Given the description of an element on the screen output the (x, y) to click on. 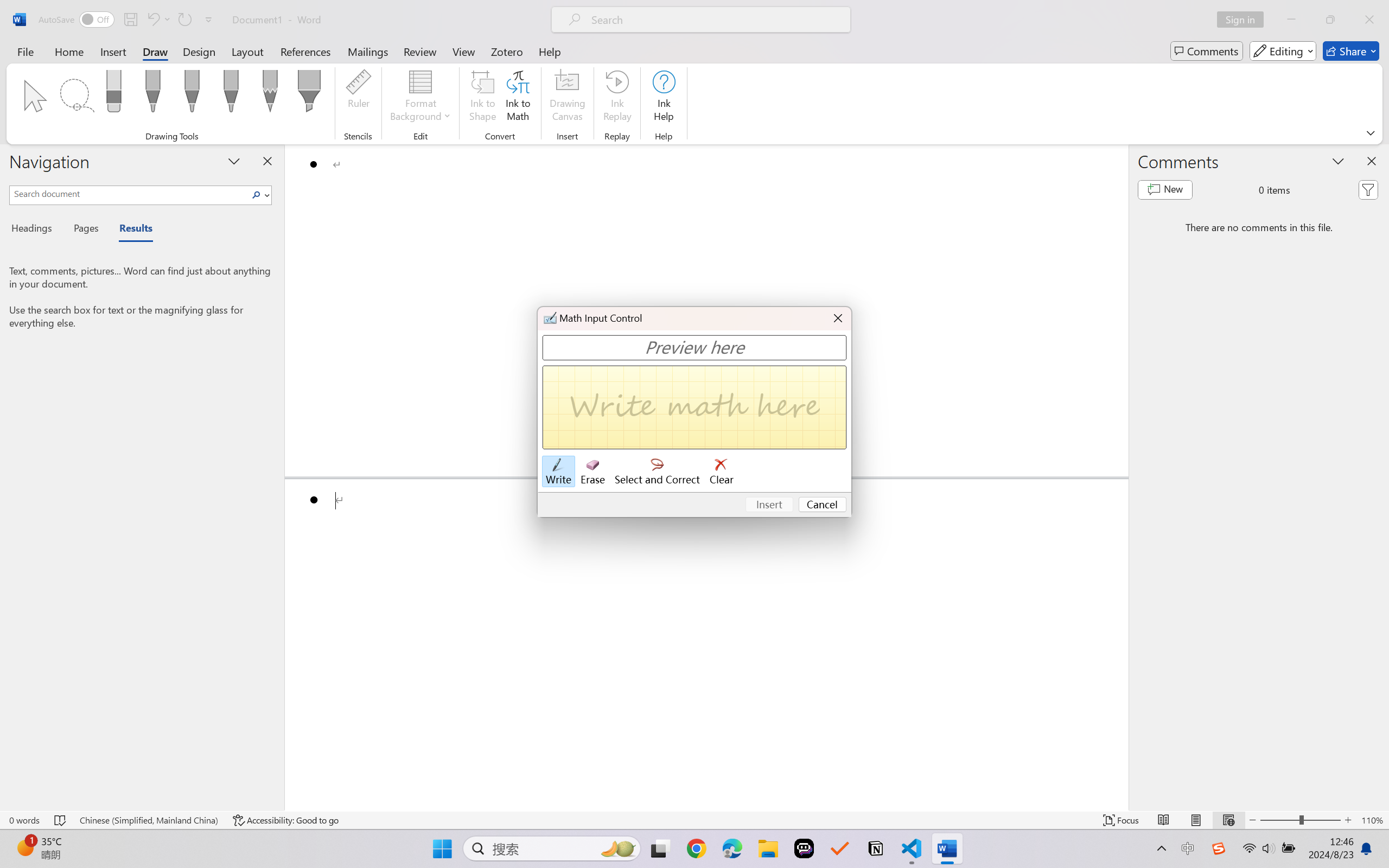
Write (558, 471)
Clear (721, 471)
